Given the description of an element on the screen output the (x, y) to click on. 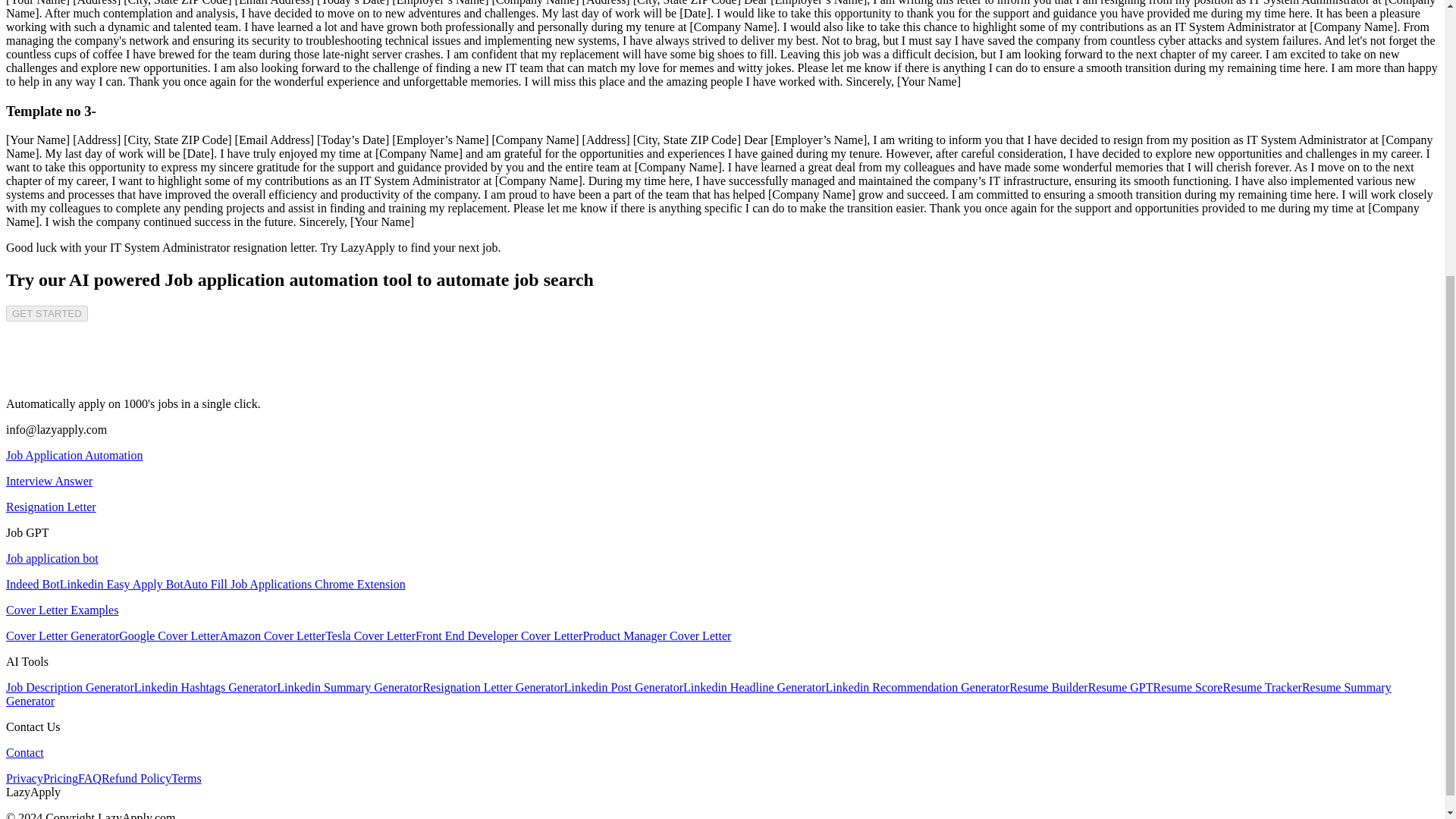
Linkedin Post Generator (623, 686)
Cover Letter Examples (61, 609)
Front End Developer Cover Letter (498, 635)
Resume Builder (1048, 686)
Tesla Cover Letter (369, 635)
Resignation Letter Generator (493, 686)
Job Description Generator (69, 686)
Resume Summary Generator (698, 693)
Linkedin Easy Apply Bot (121, 584)
Linkedin Recommendation Generator (917, 686)
Resume GPT (1120, 686)
Refund Policy (136, 778)
Product Manager Cover Letter (656, 635)
Resume Tracker (1262, 686)
Linkedin Summary Generator (349, 686)
